Given the description of an element on the screen output the (x, y) to click on. 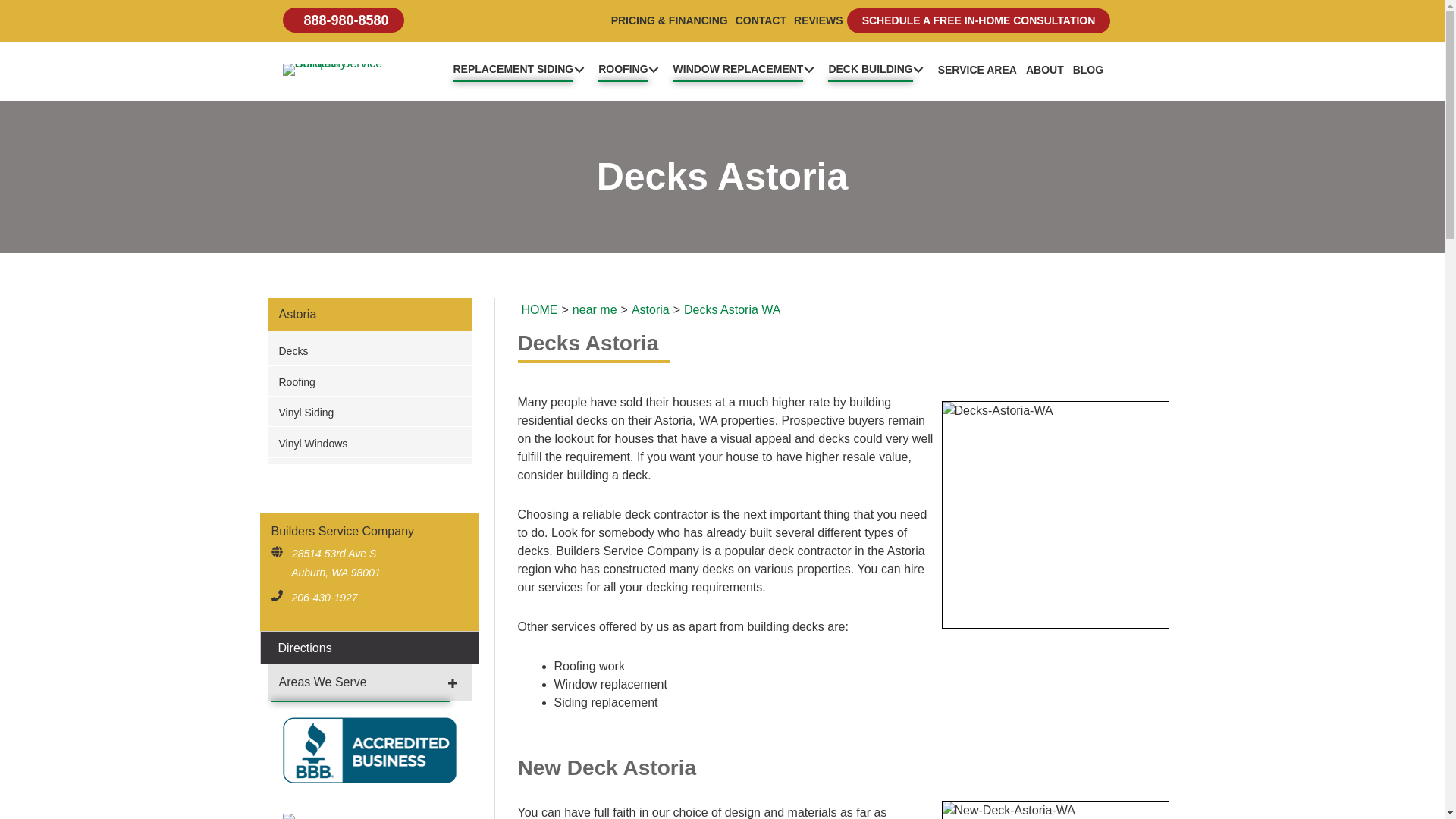
SCHEDULE A FREE IN-HOME CONSULTATION (978, 20)
WINDOW REPLACEMENT (747, 68)
REPLACEMENT SIDING (521, 68)
REVIEWS (818, 20)
DECK BUILDING (878, 68)
CONTACT (761, 20)
ROOFING (631, 68)
888-980-8580 (342, 19)
